Given the description of an element on the screen output the (x, y) to click on. 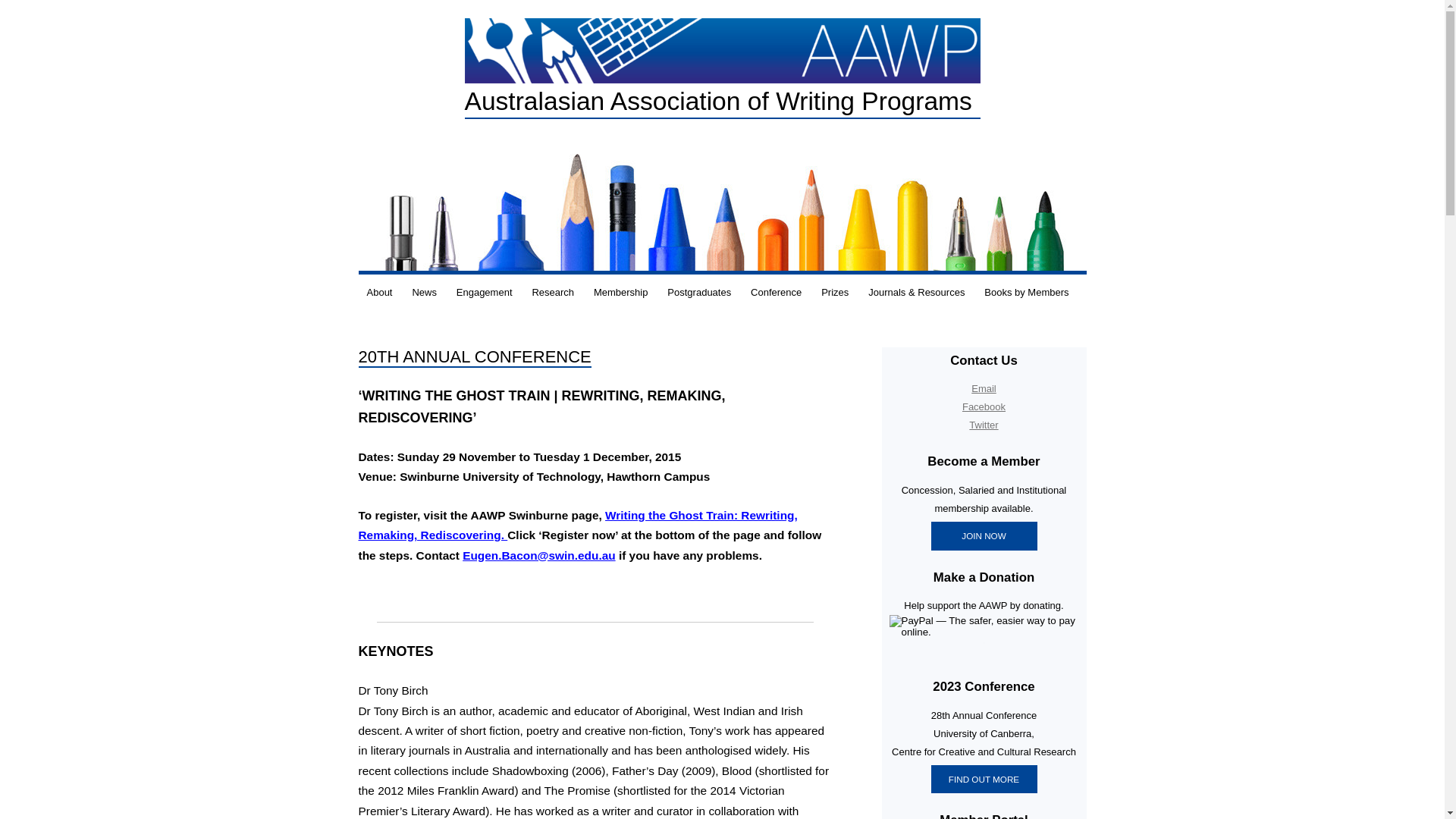
Research Element type: text (552, 292)
Engagement Element type: text (484, 292)
Prizes Element type: text (834, 292)
Journals & Resources Element type: text (915, 292)
Postgraduate Membership Element type: text (734, 327)
Membership Element type: text (620, 292)
Books by Members Element type: text (1025, 292)
Eugen.Bacon@swin.edu.au Element type: text (538, 555)
Journals Element type: text (935, 327)
Writing the Ghost Train: Rewriting, Remaking, Rediscovering. Element type: text (577, 524)
About Element type: text (378, 292)
FIND OUT MORE Element type: text (984, 779)
Facebook Element type: text (983, 406)
Skip to content Element type: text (756, 279)
JOIN NOW Element type: text (984, 535)
Conference Element type: text (775, 292)
Email Element type: text (983, 388)
Governance & Subcommittees Element type: text (433, 327)
28th Annual Conference Element type: text (818, 327)
Insecure Work Statement Element type: text (523, 327)
Australasian Association of Writing Programs Element type: text (721, 101)
Twitter Element type: text (983, 424)
Conference Proceedings Element type: text (598, 327)
Postgraduates Element type: text (698, 292)
News Element type: text (424, 292)
